Given the description of an element on the screen output the (x, y) to click on. 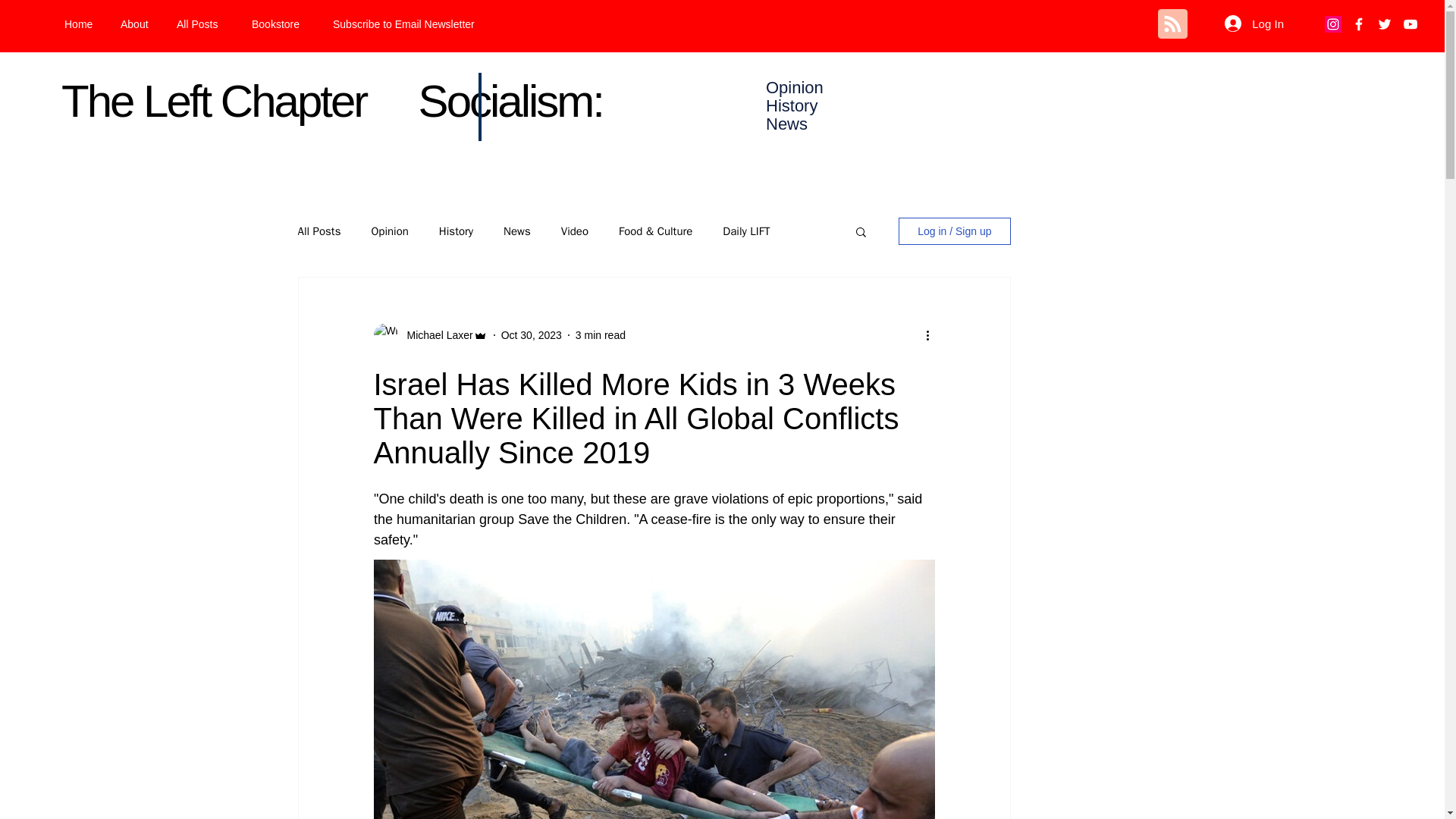
Michael Laxer (434, 335)
Opinion (389, 231)
Oct 30, 2023 (531, 335)
Log In (1254, 23)
News (517, 231)
Subscribe to Email Newsletter (420, 24)
The Left Chapter     Socialism: (331, 101)
All Posts (202, 24)
About (137, 24)
Home (80, 24)
